Given the description of an element on the screen output the (x, y) to click on. 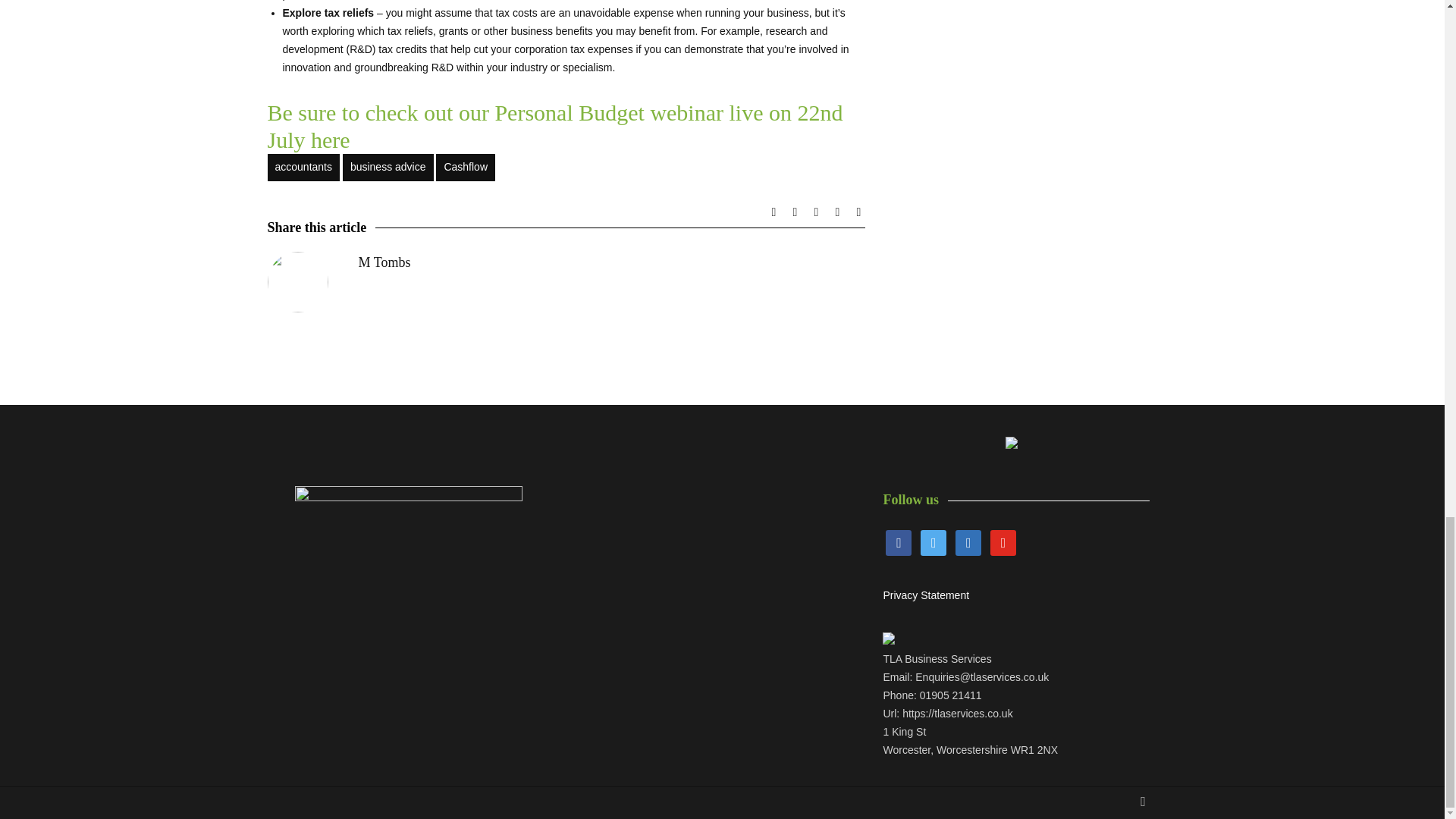
youtube (1003, 541)
linkedin (968, 541)
facebook (898, 541)
twitter (933, 541)
business advice (387, 166)
Cashflow (465, 166)
Default Label (1003, 541)
Twitter (933, 541)
Default Label (968, 541)
UP! (1142, 801)
Privacy Statement (925, 594)
accountants (302, 166)
Facebook (898, 541)
